Given the description of an element on the screen output the (x, y) to click on. 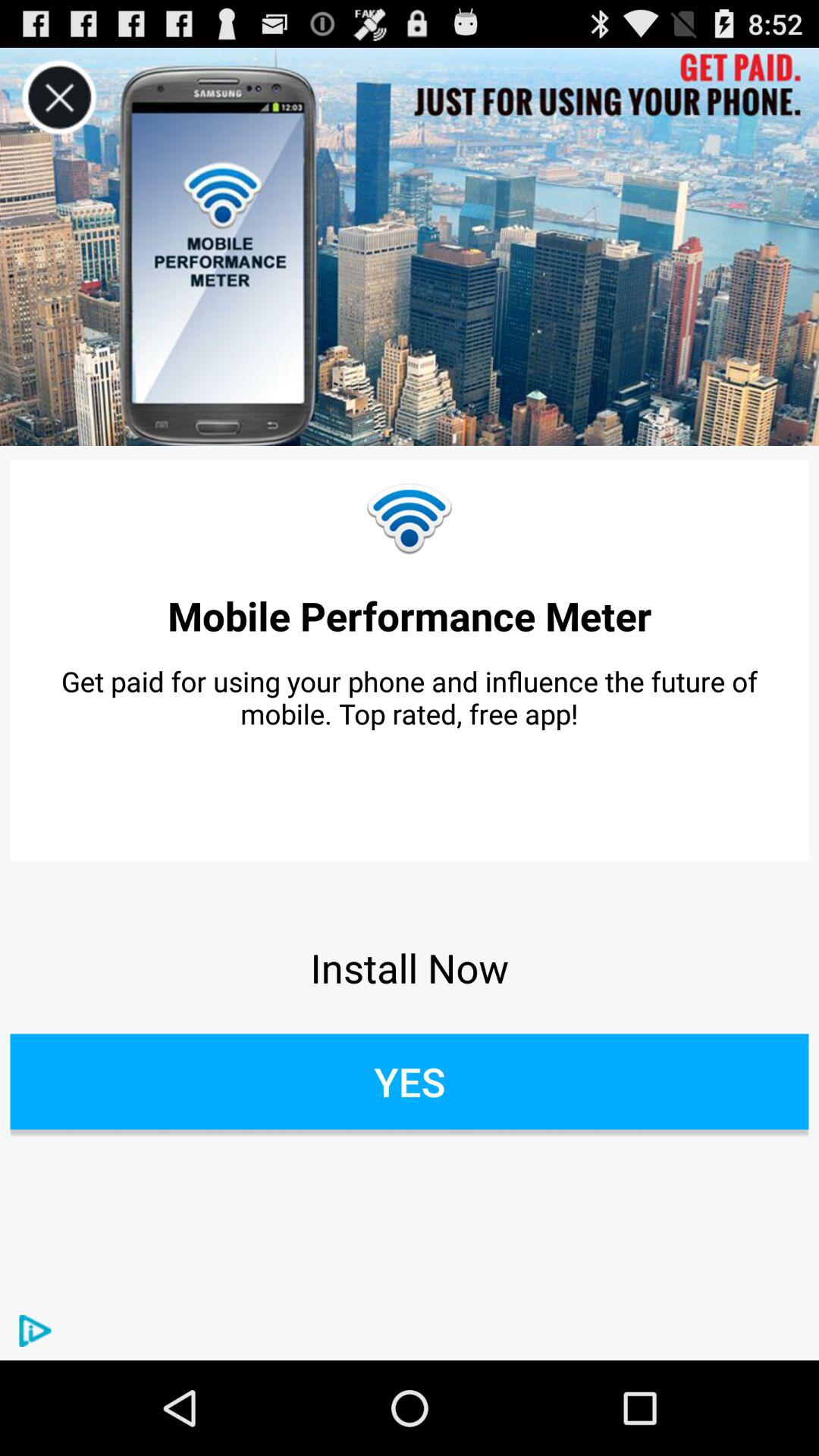
click item above the mobile performance meter app (409, 518)
